Given the description of an element on the screen output the (x, y) to click on. 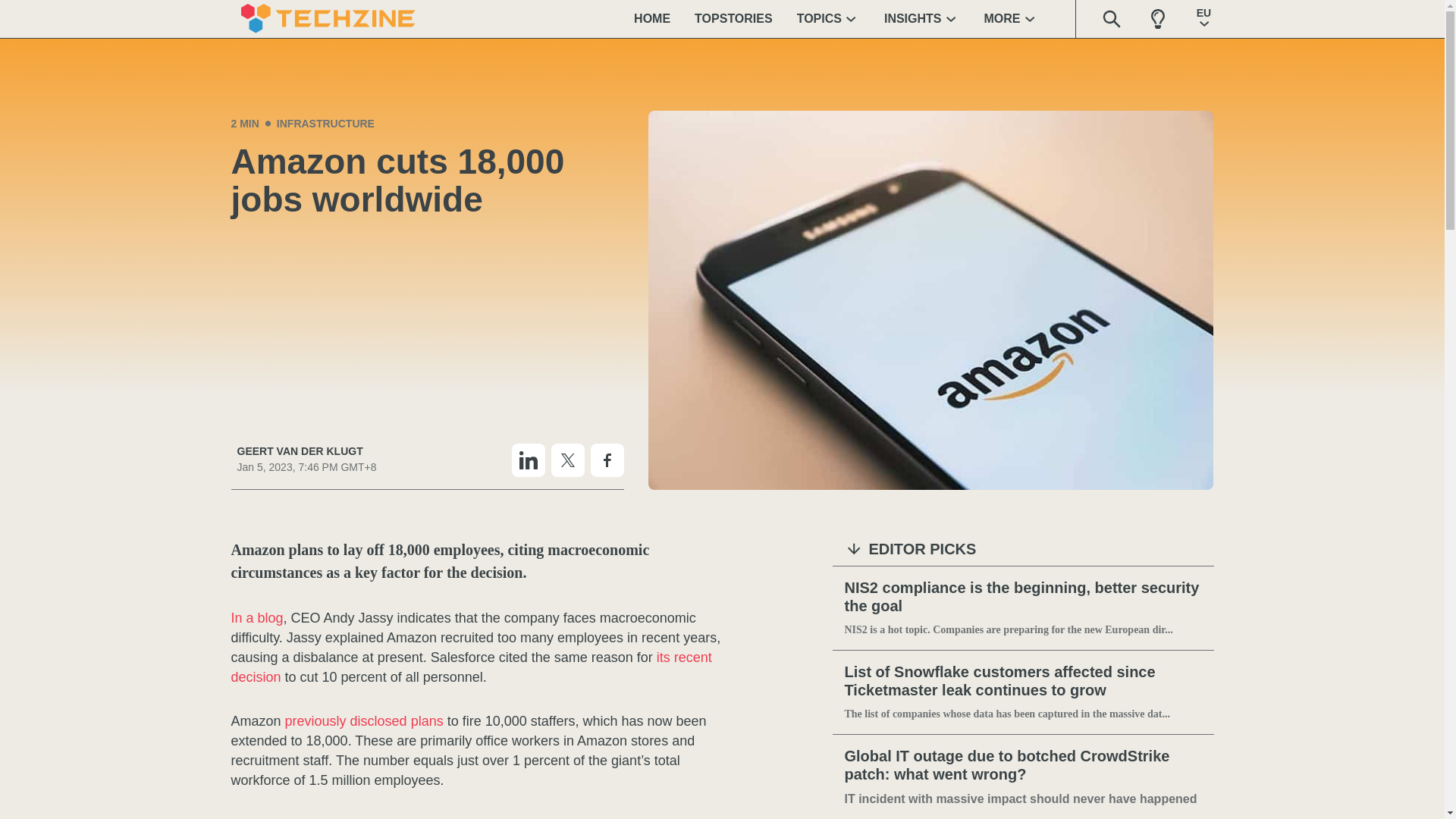
GEERT VAN DER KLUGT (305, 451)
INFRASTRUCTURE (325, 123)
MORE (1011, 18)
HOME (651, 18)
TOPICS (828, 18)
NIS2 compliance is the beginning, better security the goal (1023, 597)
TOPSTORIES (733, 18)
INSIGHTS (922, 18)
